Given the description of an element on the screen output the (x, y) to click on. 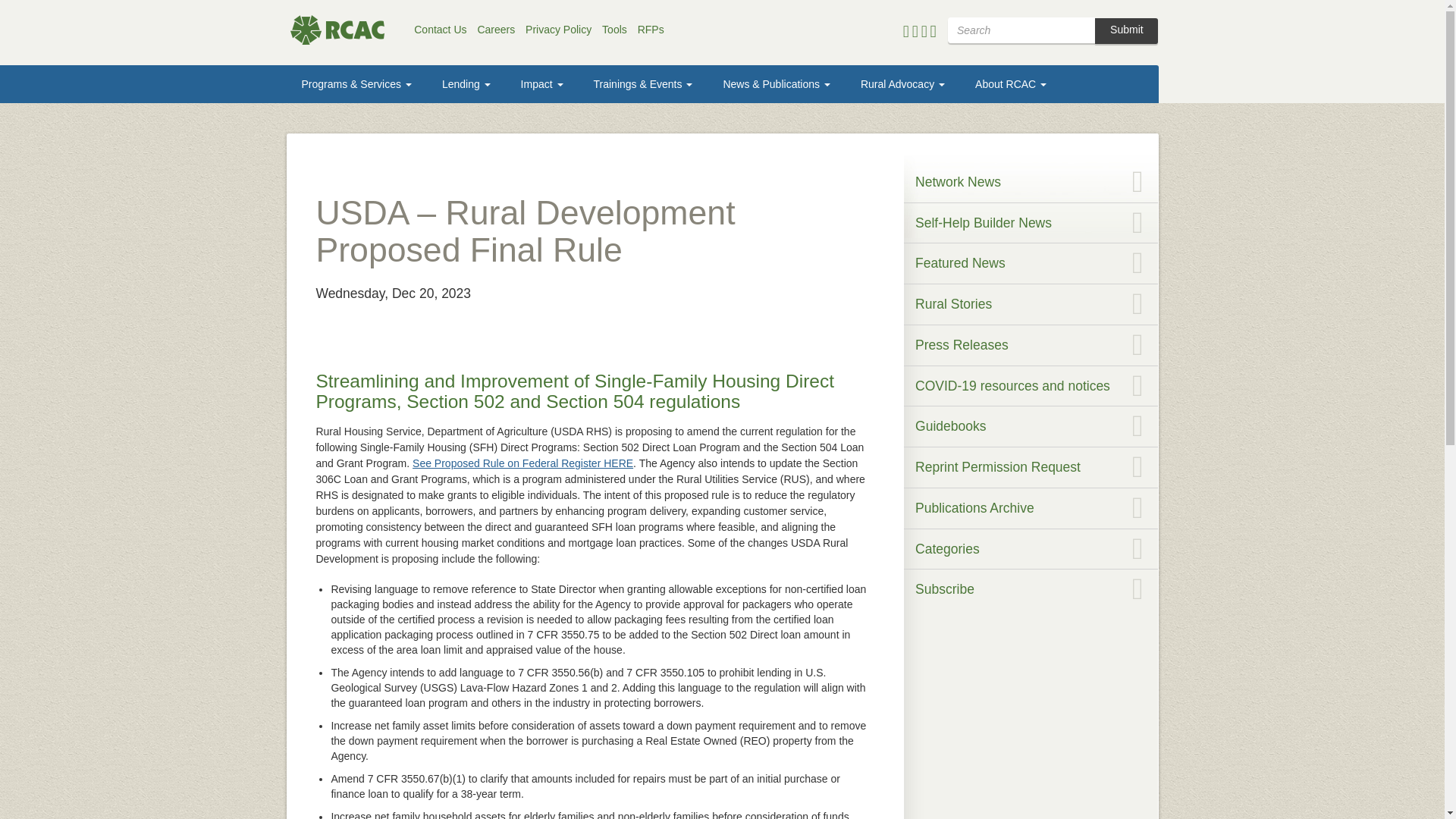
Lending (465, 84)
Tools (614, 29)
Submit (1125, 31)
RCAC (340, 30)
Privacy Policy (558, 29)
RFPs (650, 29)
Contact Us (439, 29)
Impact (541, 84)
Careers (496, 29)
